Given the description of an element on the screen output the (x, y) to click on. 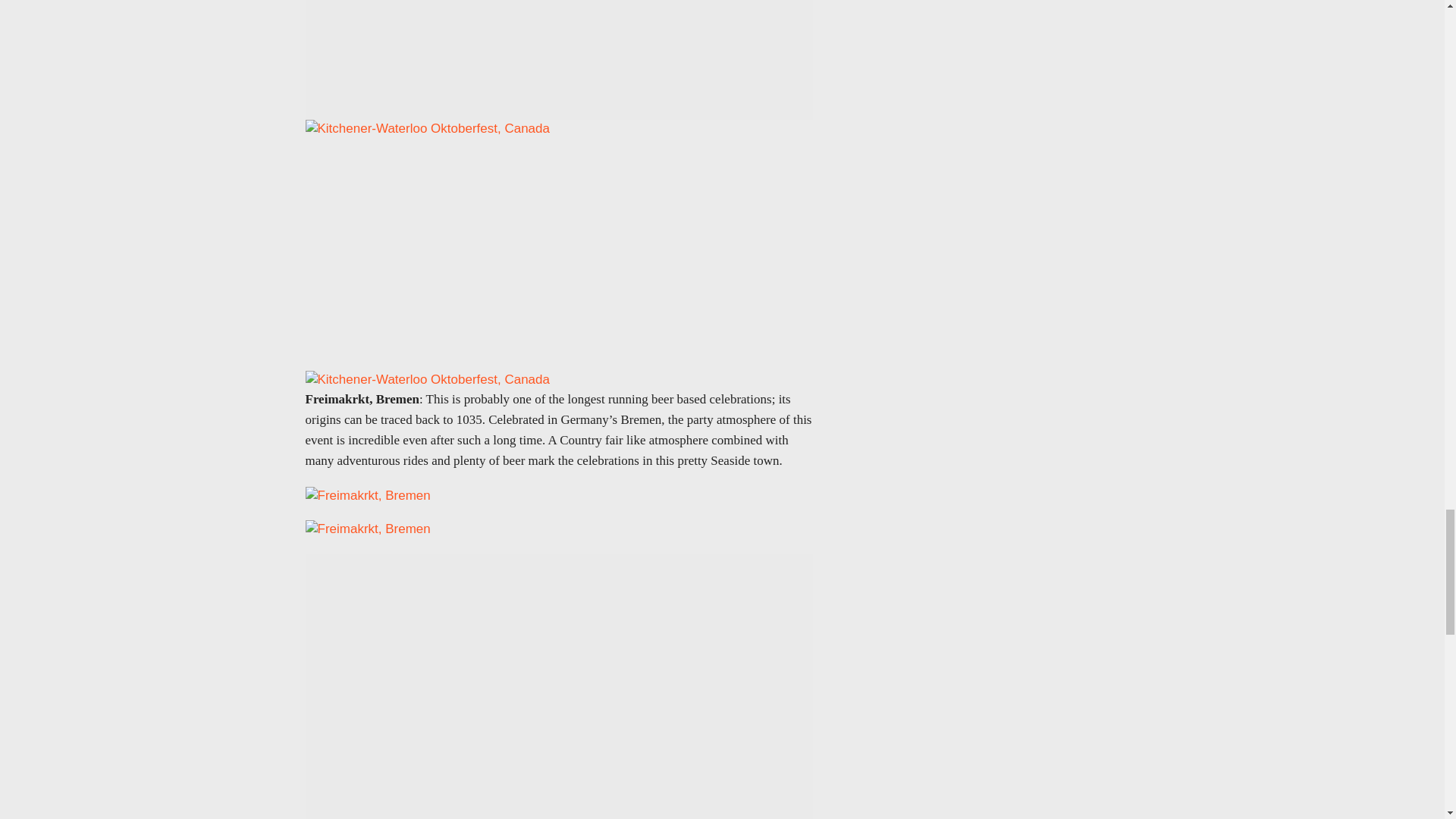
Kitchener-Waterloo Oktoberfest, Canada (426, 380)
Freimakrkt, Bremen (366, 529)
Freimakrkt, Bremen (366, 495)
Kitchener-Waterloo Oktoberfest, Canada (426, 128)
